Given the description of an element on the screen output the (x, y) to click on. 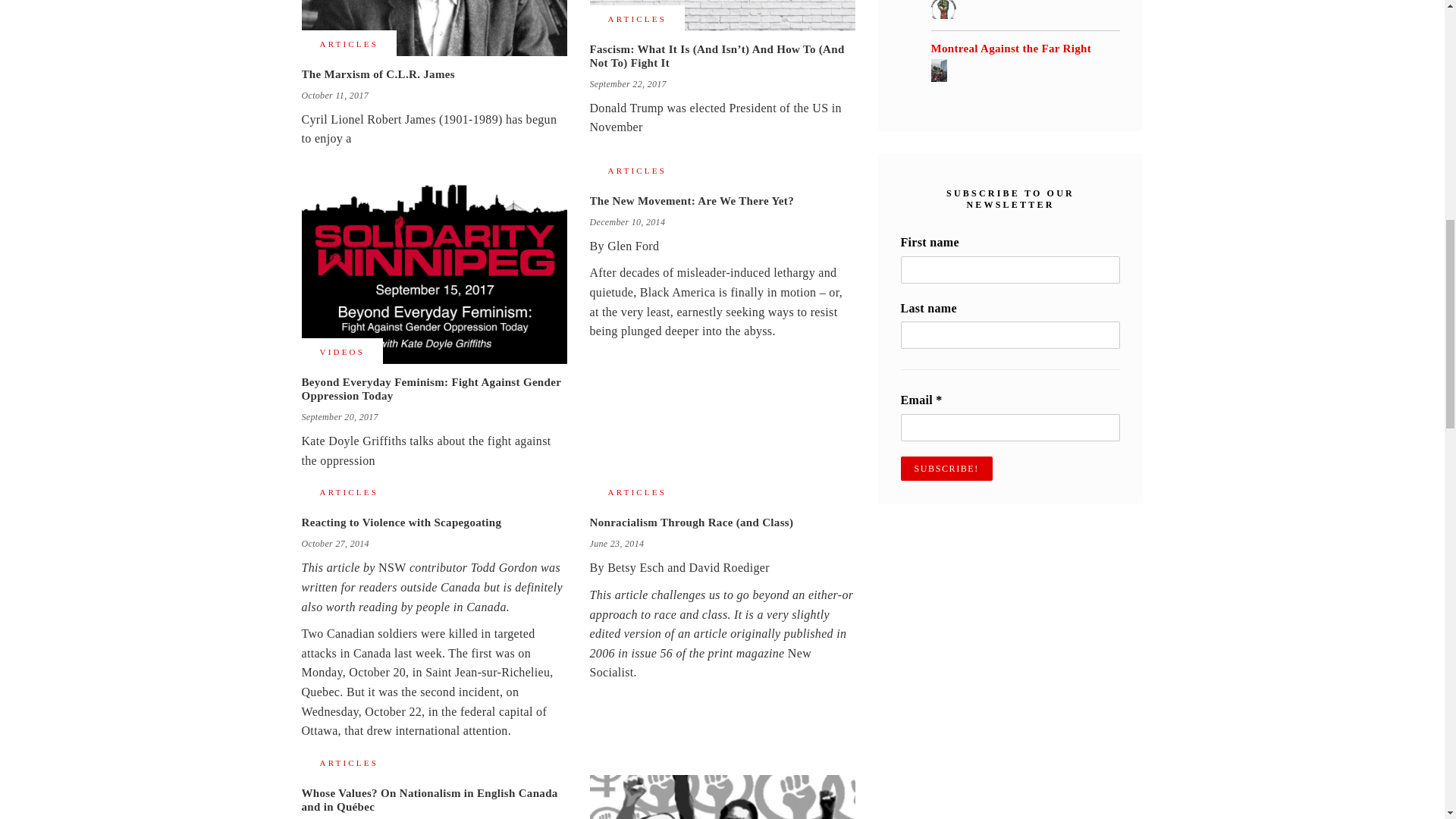
Subscribe! (946, 468)
The Marxism of C.L.R. James (434, 28)
